Given the description of an element on the screen output the (x, y) to click on. 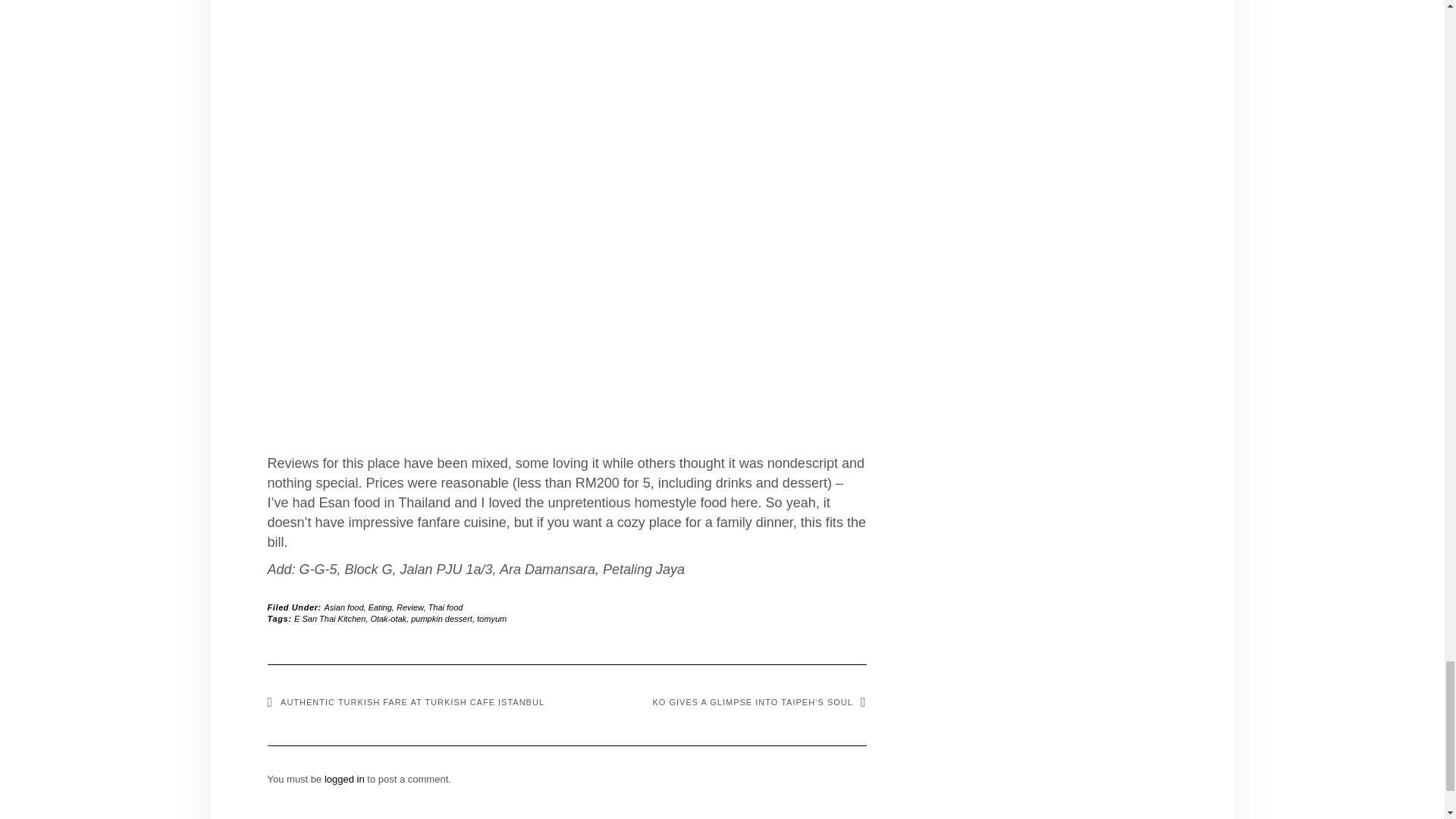
Asian food (344, 606)
E San Thai Kitchen (329, 618)
pumpkin dessert (440, 618)
tomyum (491, 618)
Review (409, 606)
logged in (344, 778)
Eating (379, 606)
AUTHENTIC TURKISH FARE AT TURKISH CAFE ISTANBUL (405, 701)
Otak-otak (387, 618)
Thai food (445, 606)
